Given the description of an element on the screen output the (x, y) to click on. 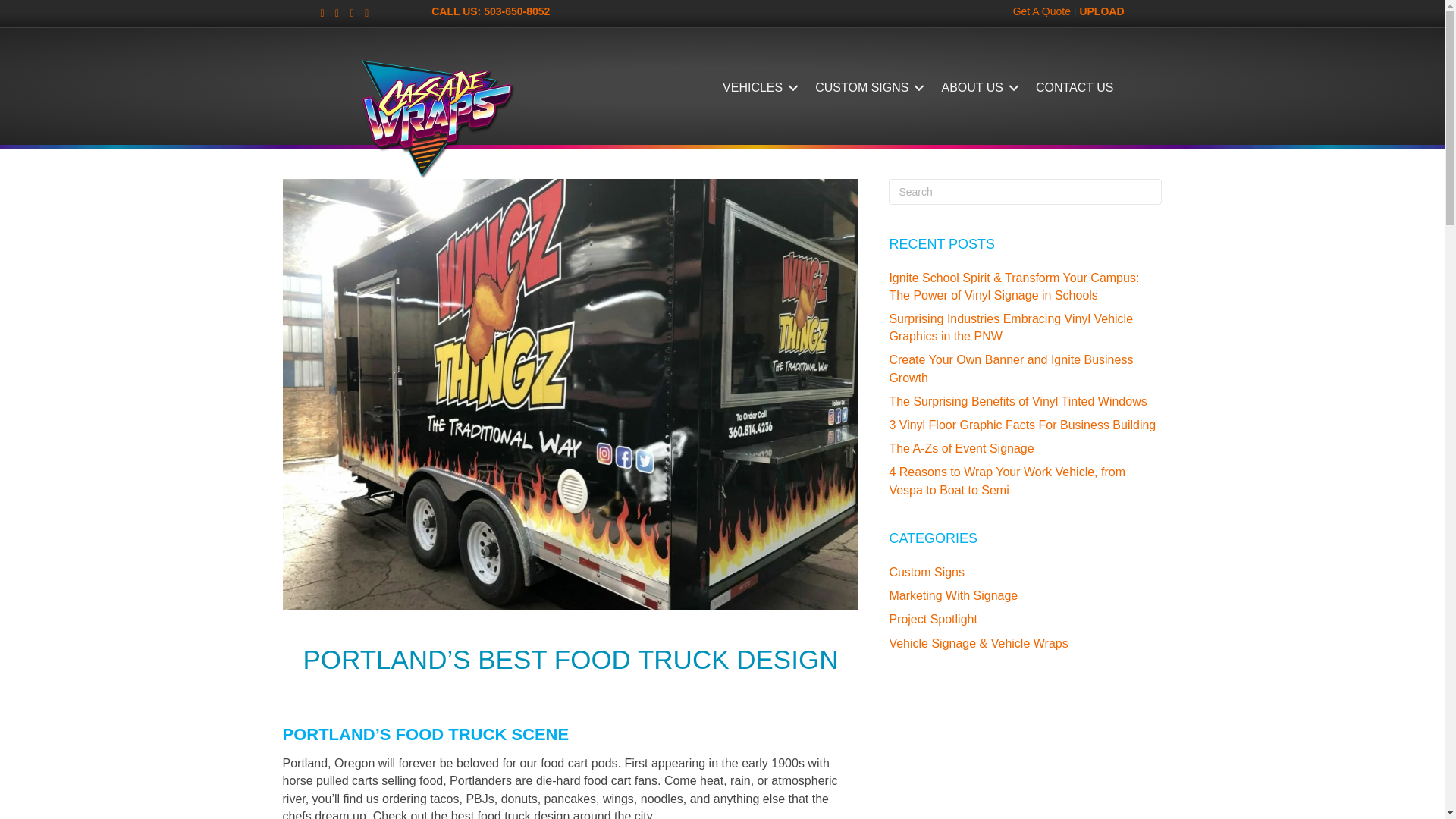
3 Vinyl Floor Graphic Facts For Business Building (1022, 424)
Get A Quote (1041, 10)
The A-Zs of Event Signage (960, 448)
CONTACT US (1074, 87)
The Surprising Benefits of Vinyl Tinted Windows (1017, 400)
Type and press Enter to search. (1024, 191)
CUSTOM SIGNS (867, 87)
UPLOAD (1101, 10)
ABOUT US (977, 87)
CALL US: 503-650-8052 (490, 10)
VEHICLES (757, 87)
Create Your Own Banner and Ignite Business Growth (1010, 368)
